Given the description of an element on the screen output the (x, y) to click on. 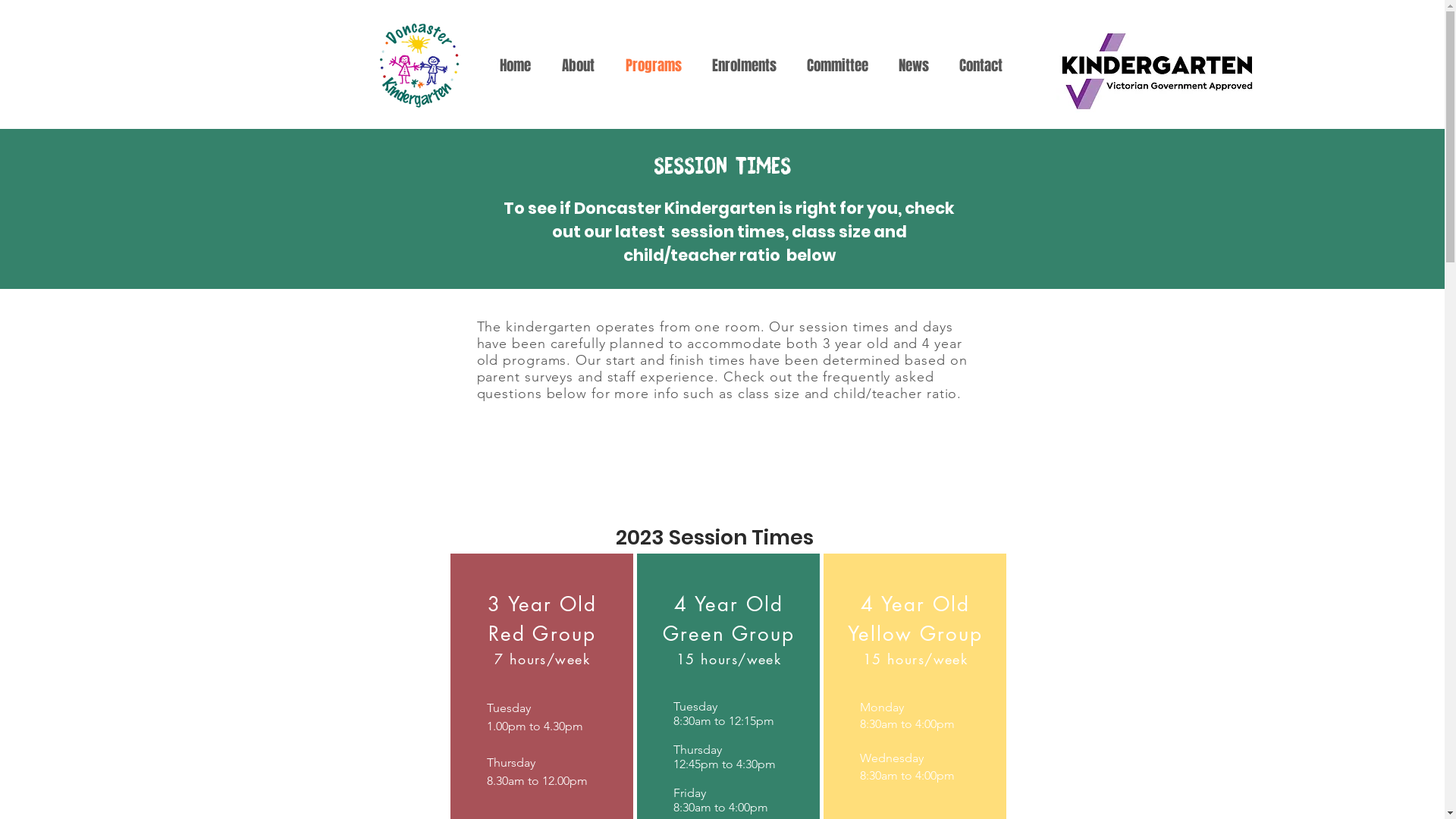
Programs Element type: text (652, 65)
Contact Element type: text (979, 65)
Enrolments Element type: text (743, 65)
Committee Element type: text (837, 65)
About Element type: text (577, 65)
News Element type: text (912, 65)
Home Element type: text (514, 65)
Contact 03 9848 3727 Element type: text (1227, 35)
